Given the description of an element on the screen output the (x, y) to click on. 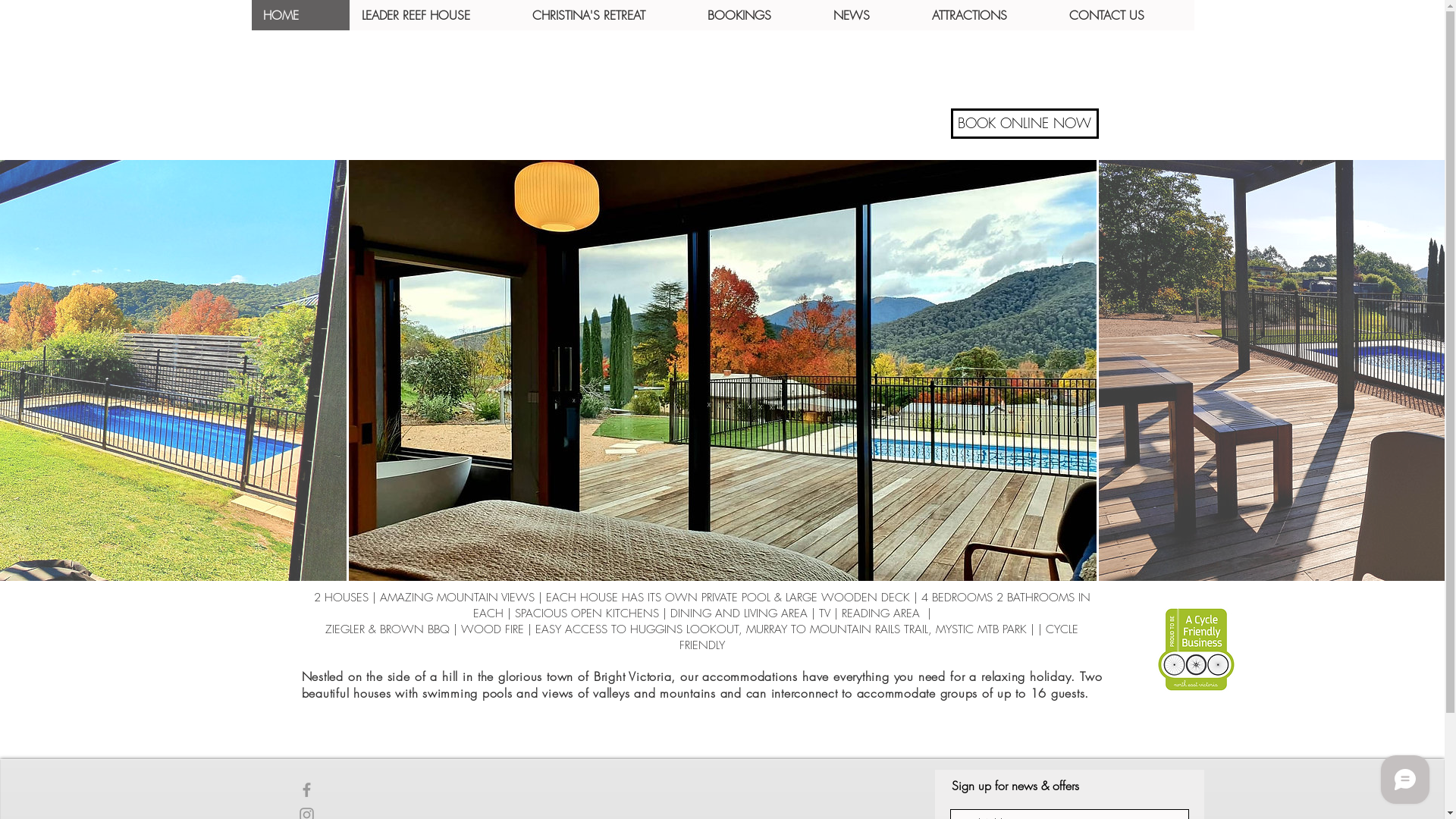
NEWS Element type: text (869, 15)
BOOKINGS Element type: text (757, 15)
HOME Element type: text (300, 15)
LEADER REEF HOUSE Element type: text (433, 15)
CONTACT US Element type: text (1125, 15)
BOOK ONLINE NOW Element type: text (1024, 123)
ATTRACTIONS Element type: text (987, 15)
CHRISTINA'S RETREAT Element type: text (607, 15)
